Given the description of an element on the screen output the (x, y) to click on. 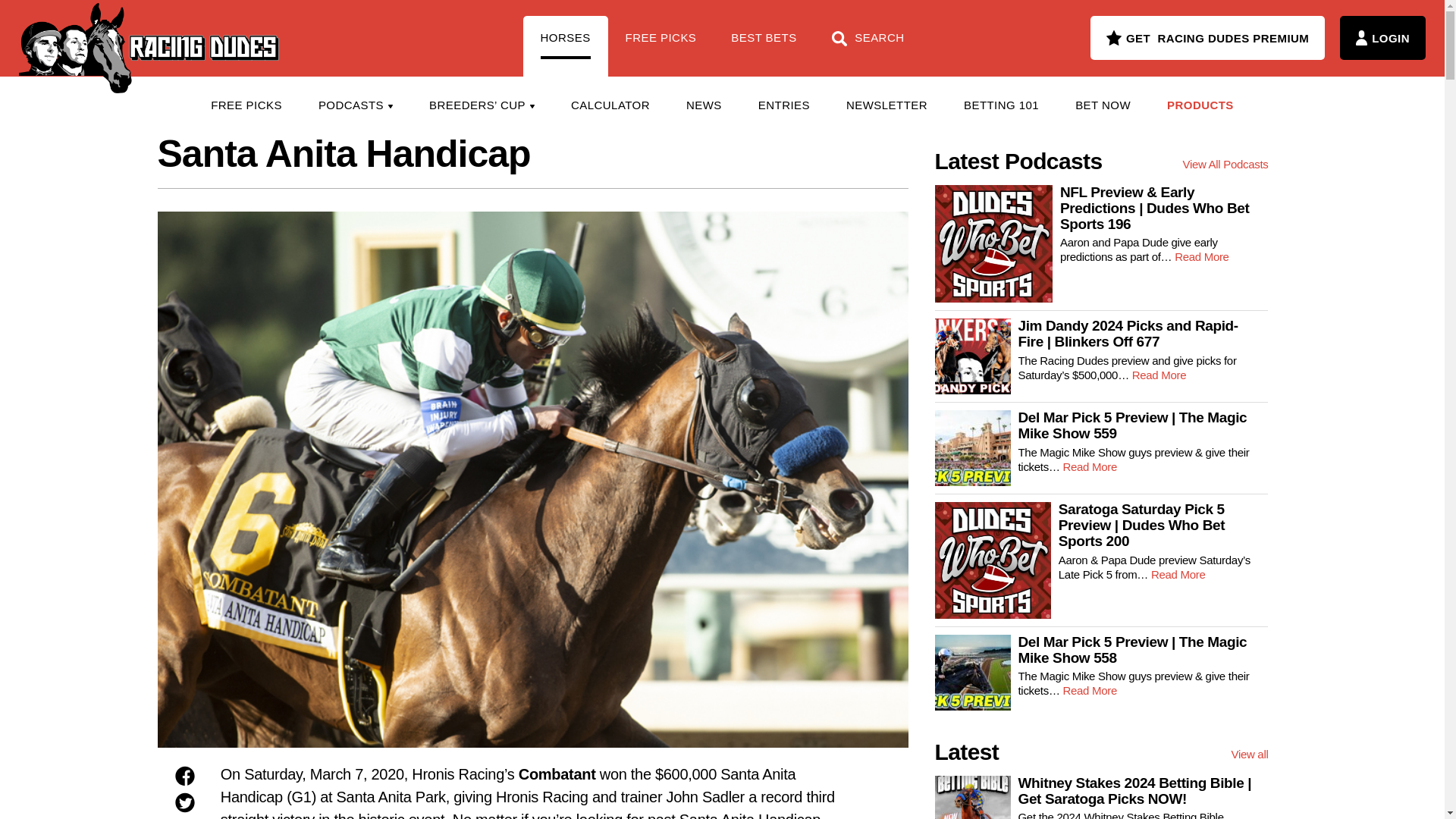
GET  RACING DUDES PREMIUM (1207, 37)
FREE PICKS (245, 105)
BEST BETS (763, 45)
LOGIN (1382, 37)
FREE PICKS (661, 45)
 SEARCH (867, 45)
PODCASTS (354, 105)
HORSES (565, 45)
